Given the description of an element on the screen output the (x, y) to click on. 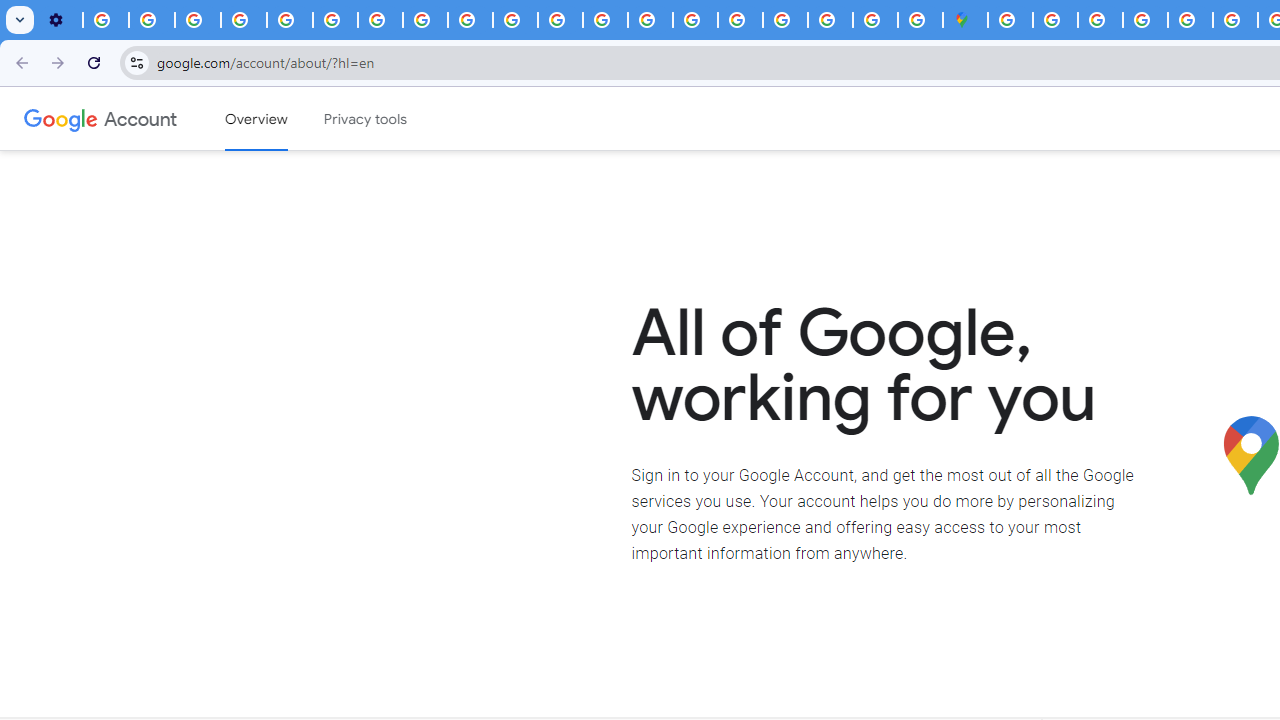
Privacy Checkup (470, 20)
Sign in - Google Accounts (784, 20)
Sign in - Google Accounts (1055, 20)
https://scholar.google.com/ (559, 20)
